Given the description of an element on the screen output the (x, y) to click on. 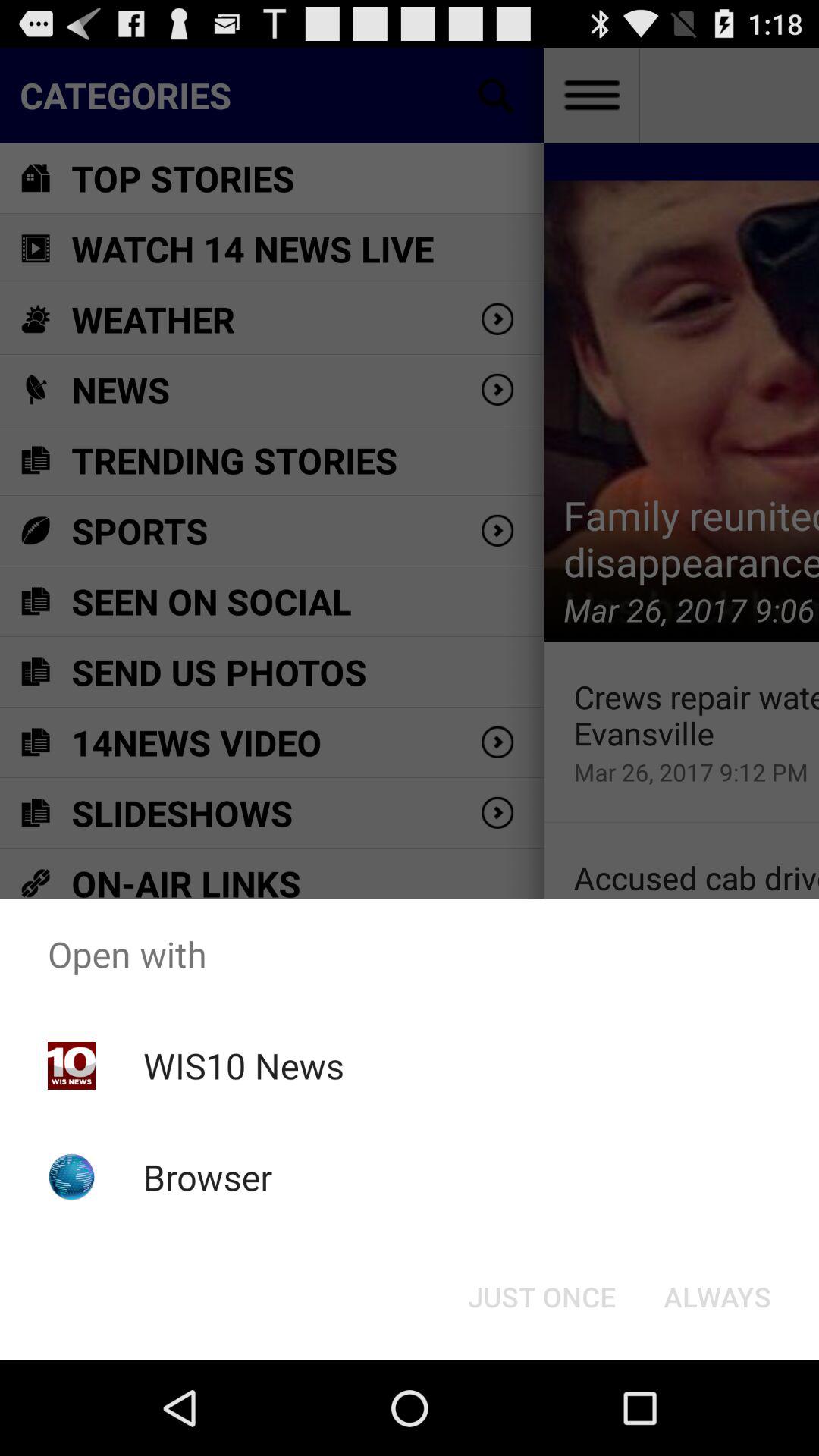
tap item below the wis10 news (207, 1176)
